Given the description of an element on the screen output the (x, y) to click on. 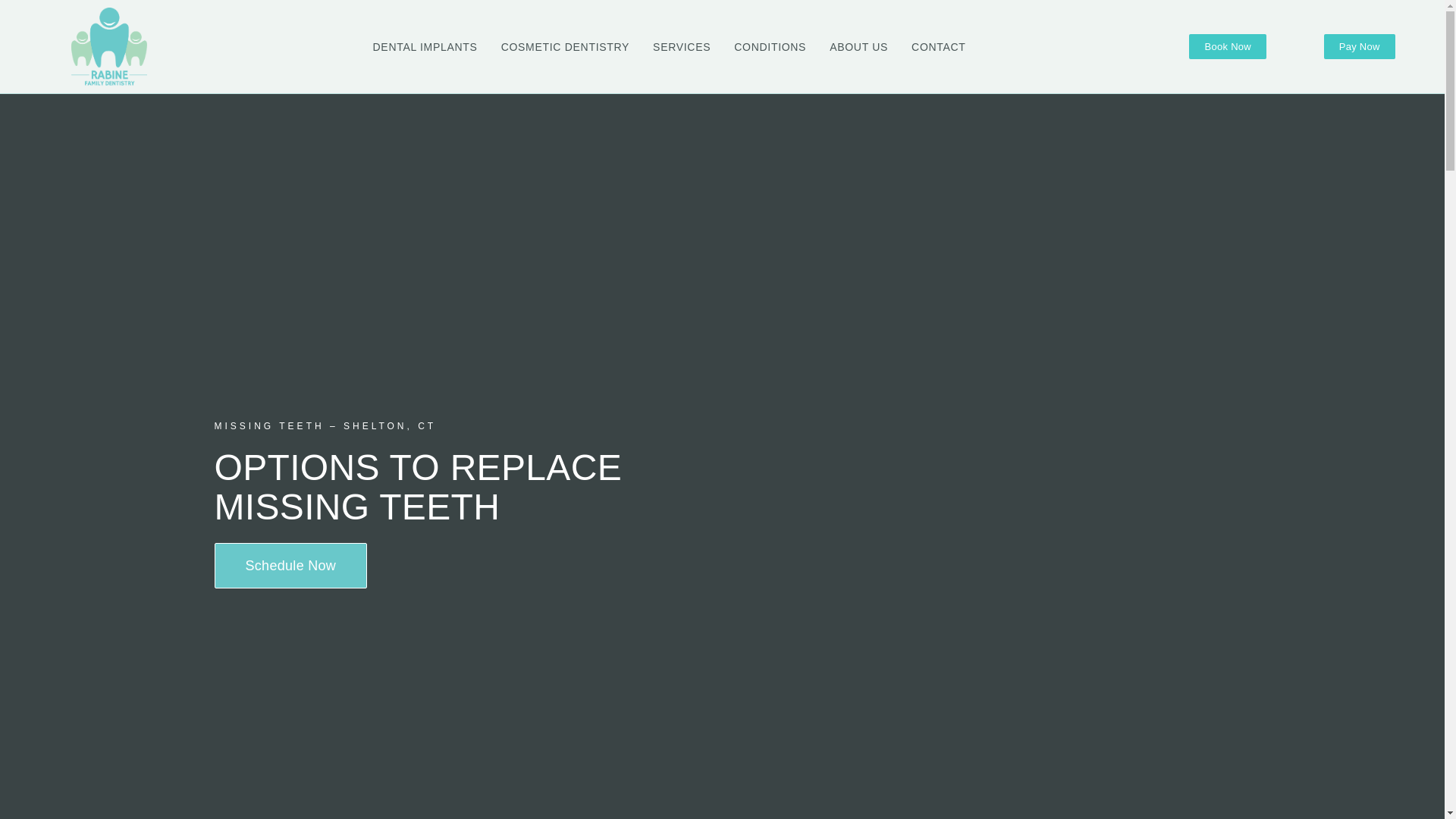
SERVICES (681, 47)
DENTAL IMPLANTS (424, 47)
COSMETIC DENTISTRY (565, 47)
CONDITIONS (769, 47)
ABOUT US (858, 47)
